Given the description of an element on the screen output the (x, y) to click on. 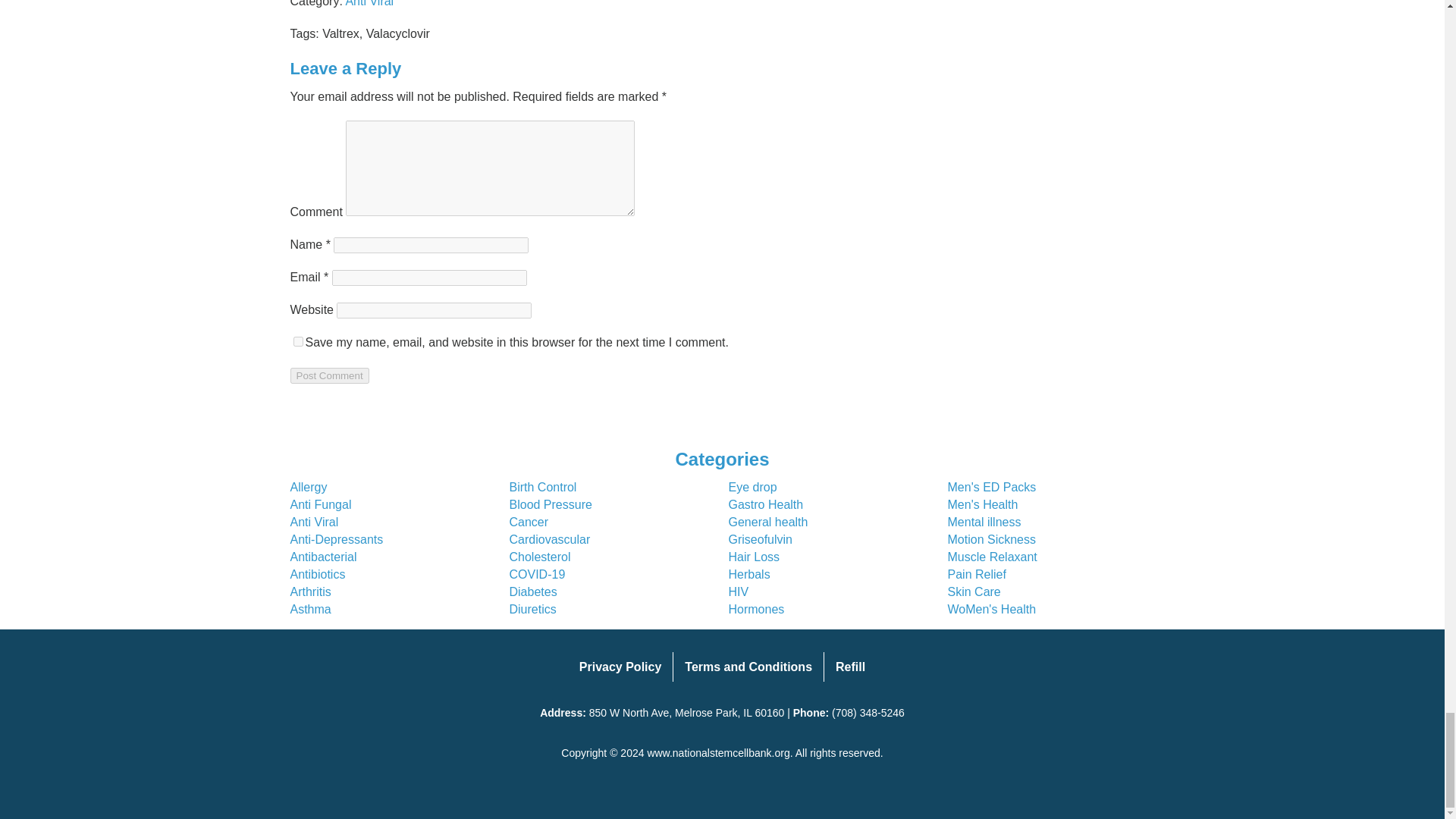
Allergy (307, 486)
Blood Pressure (550, 504)
Arthritis (309, 591)
Post Comment (328, 375)
Cancer (528, 521)
yes (297, 341)
COVID-19 (537, 574)
Cardiovascular (550, 539)
Anti Viral (369, 3)
Post Comment (328, 375)
Anti Fungal (319, 504)
Antibacterial (322, 556)
Anti Viral (313, 521)
Asthma (309, 608)
Birth Control (542, 486)
